Given the description of an element on the screen output the (x, y) to click on. 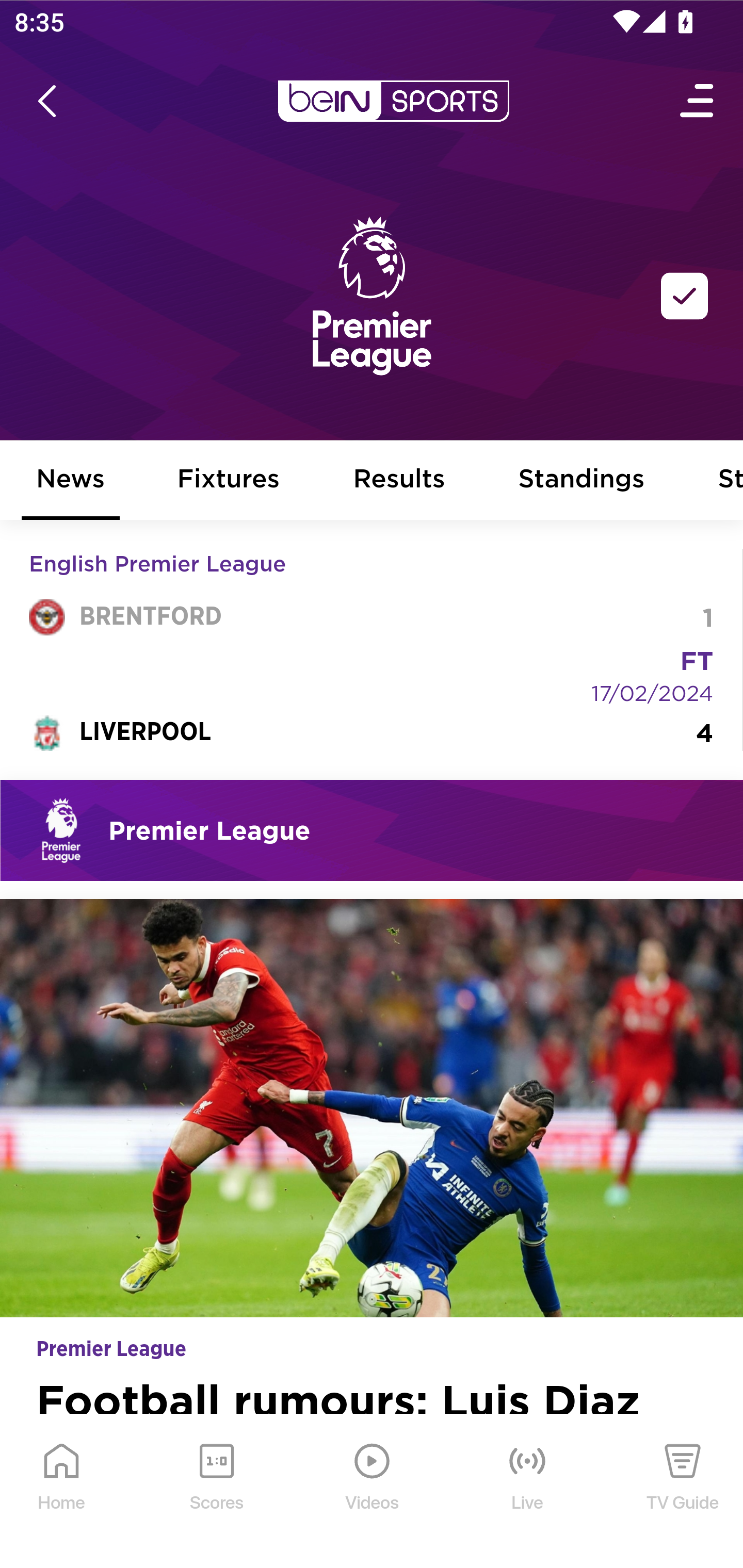
en-us?platform=mobile_android bein logo white (392, 101)
icon back (46, 101)
Open Menu Icon (697, 101)
News (70, 480)
Fixtures (229, 480)
Results (399, 480)
Standings (581, 480)
Home Home Icon Home (61, 1491)
Scores Scores Icon Scores (216, 1491)
Videos Videos Icon Videos (372, 1491)
TV Guide TV Guide Icon TV Guide (682, 1491)
